Given the description of an element on the screen output the (x, y) to click on. 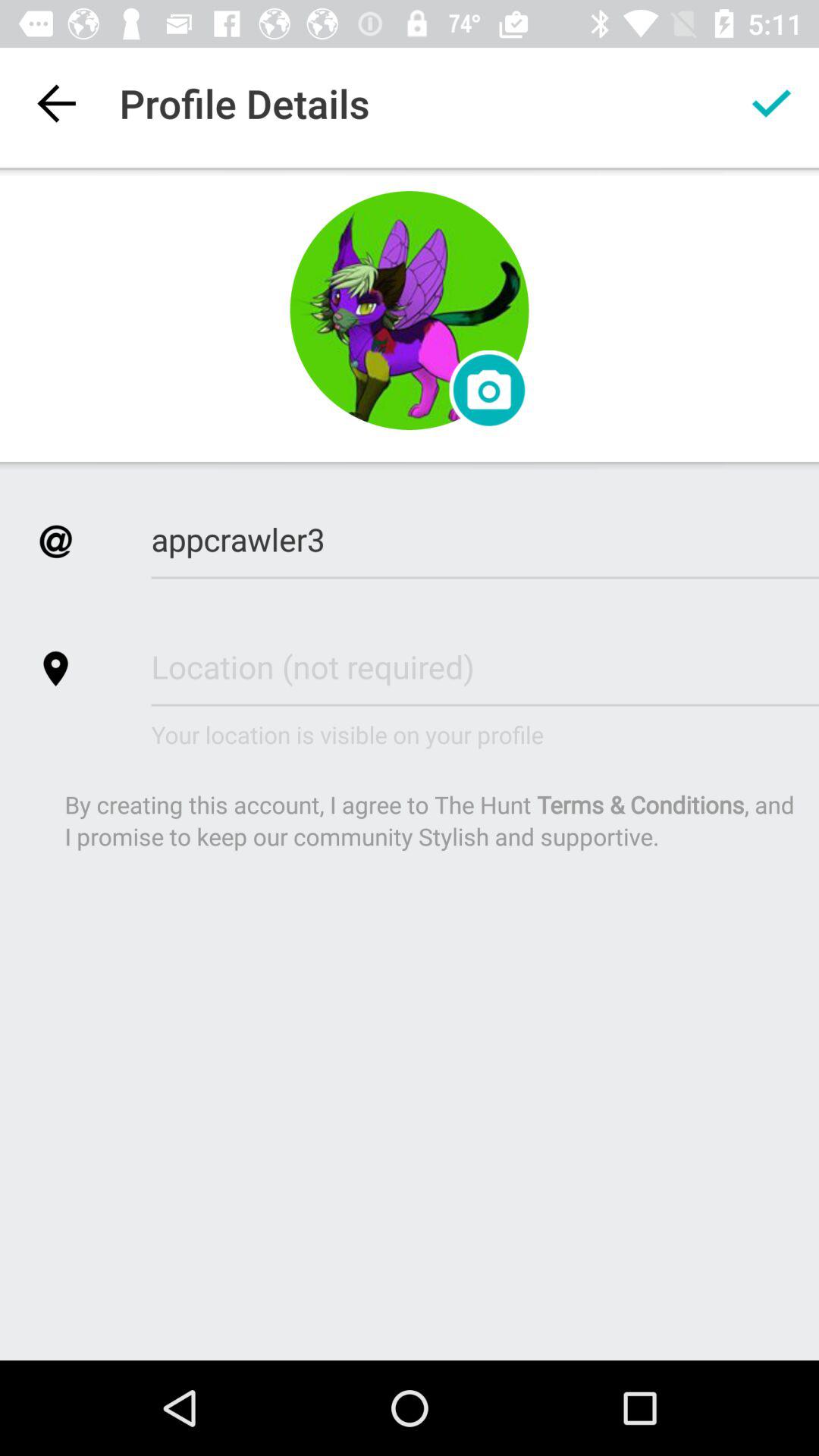
save profile data (771, 103)
